Given the description of an element on the screen output the (x, y) to click on. 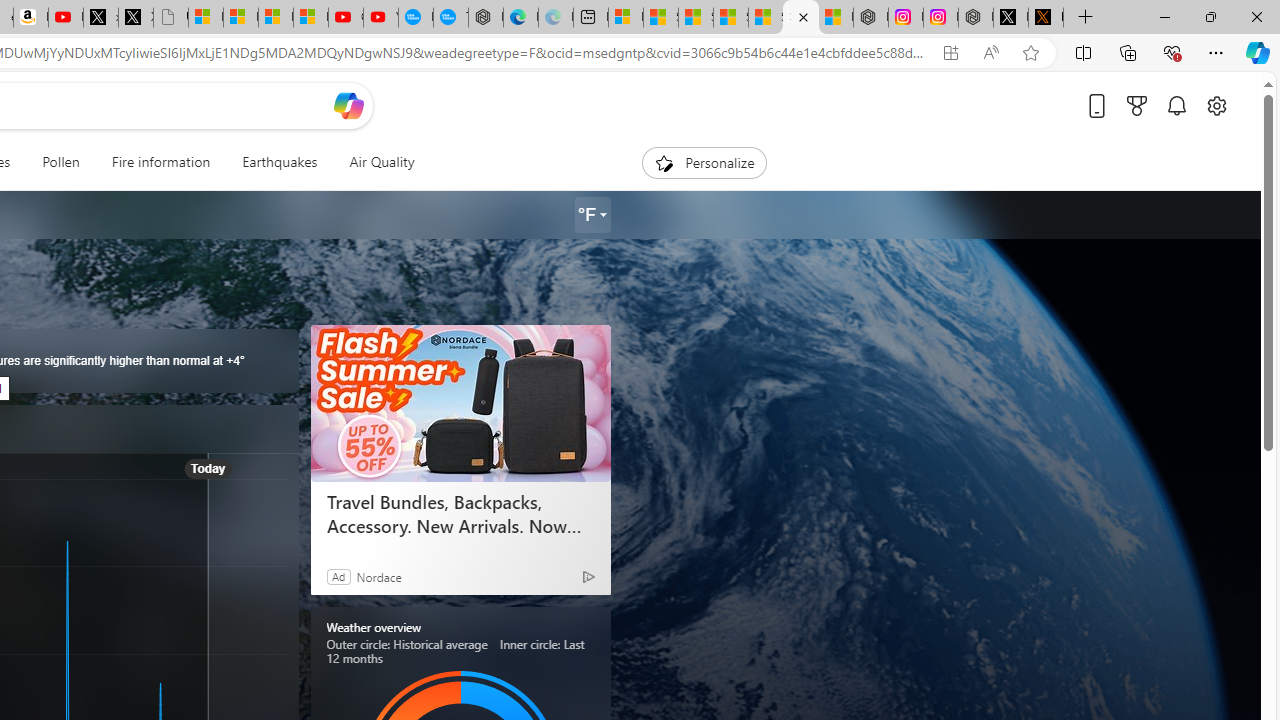
Fire information (160, 162)
Shanghai, China Weather trends | Microsoft Weather (800, 17)
